Given the description of an element on the screen output the (x, y) to click on. 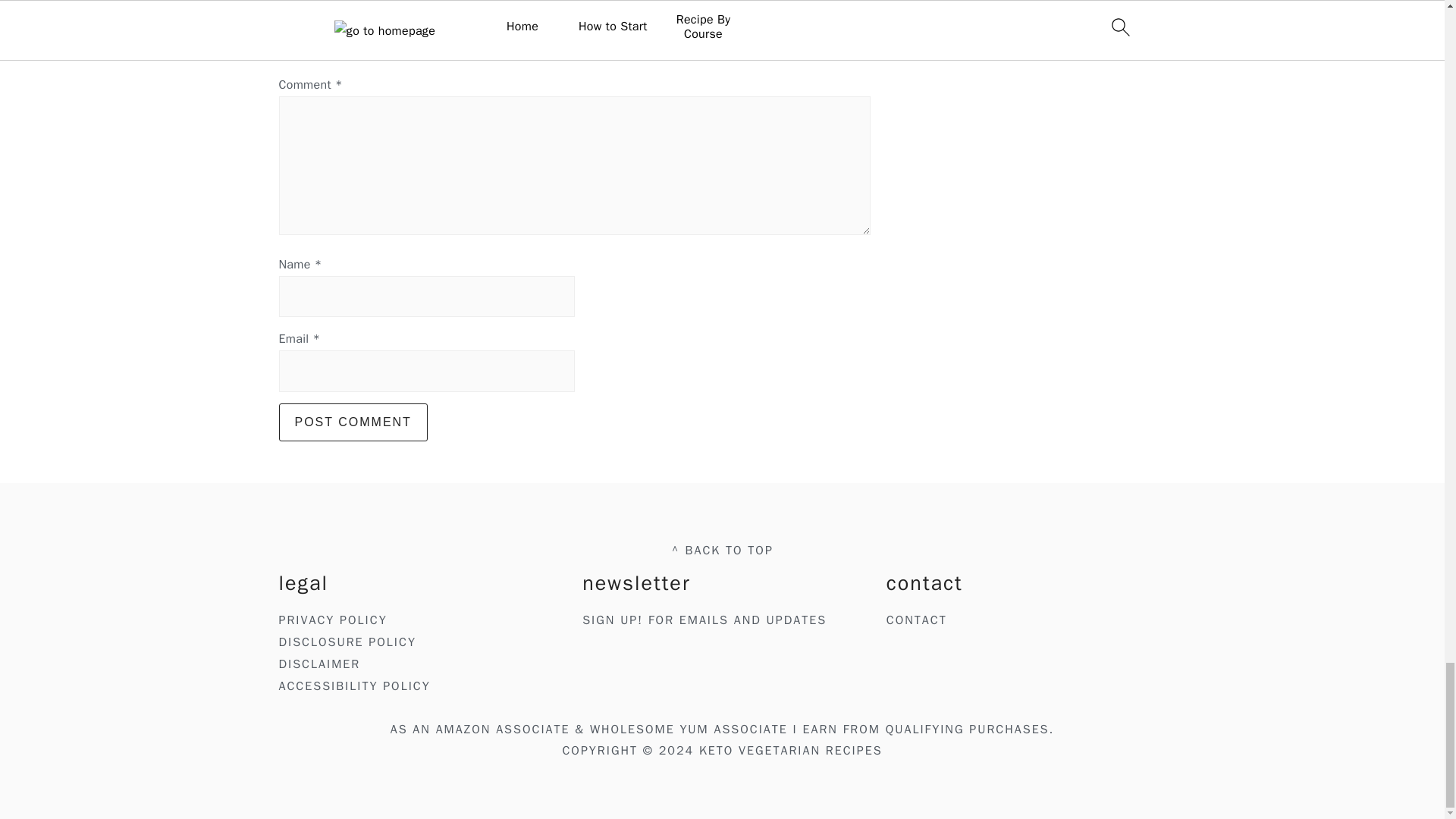
Post Comment (353, 422)
